Given the description of an element on the screen output the (x, y) to click on. 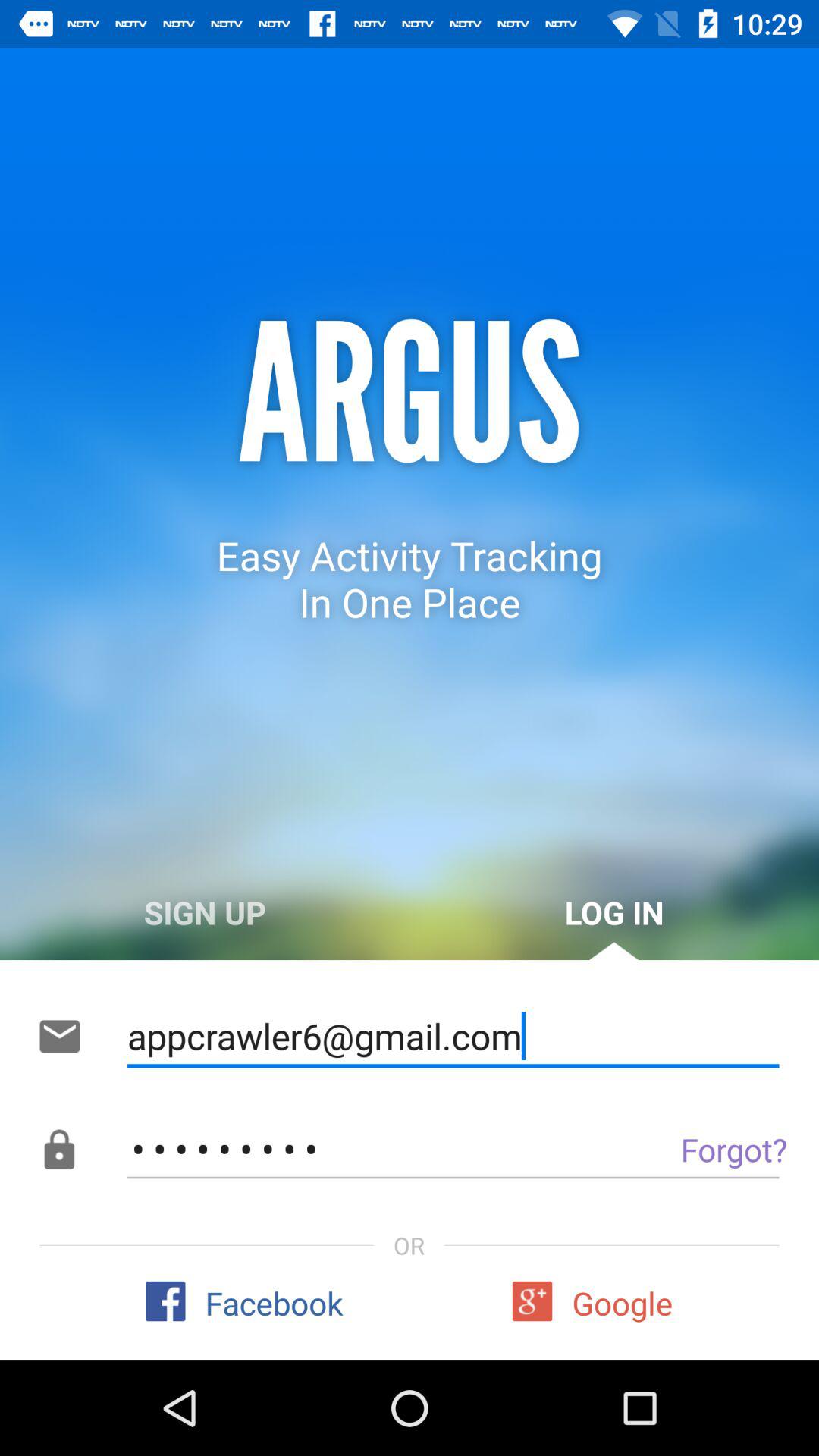
select item below easy activity tracking (614, 912)
